Given the description of an element on the screen output the (x, y) to click on. 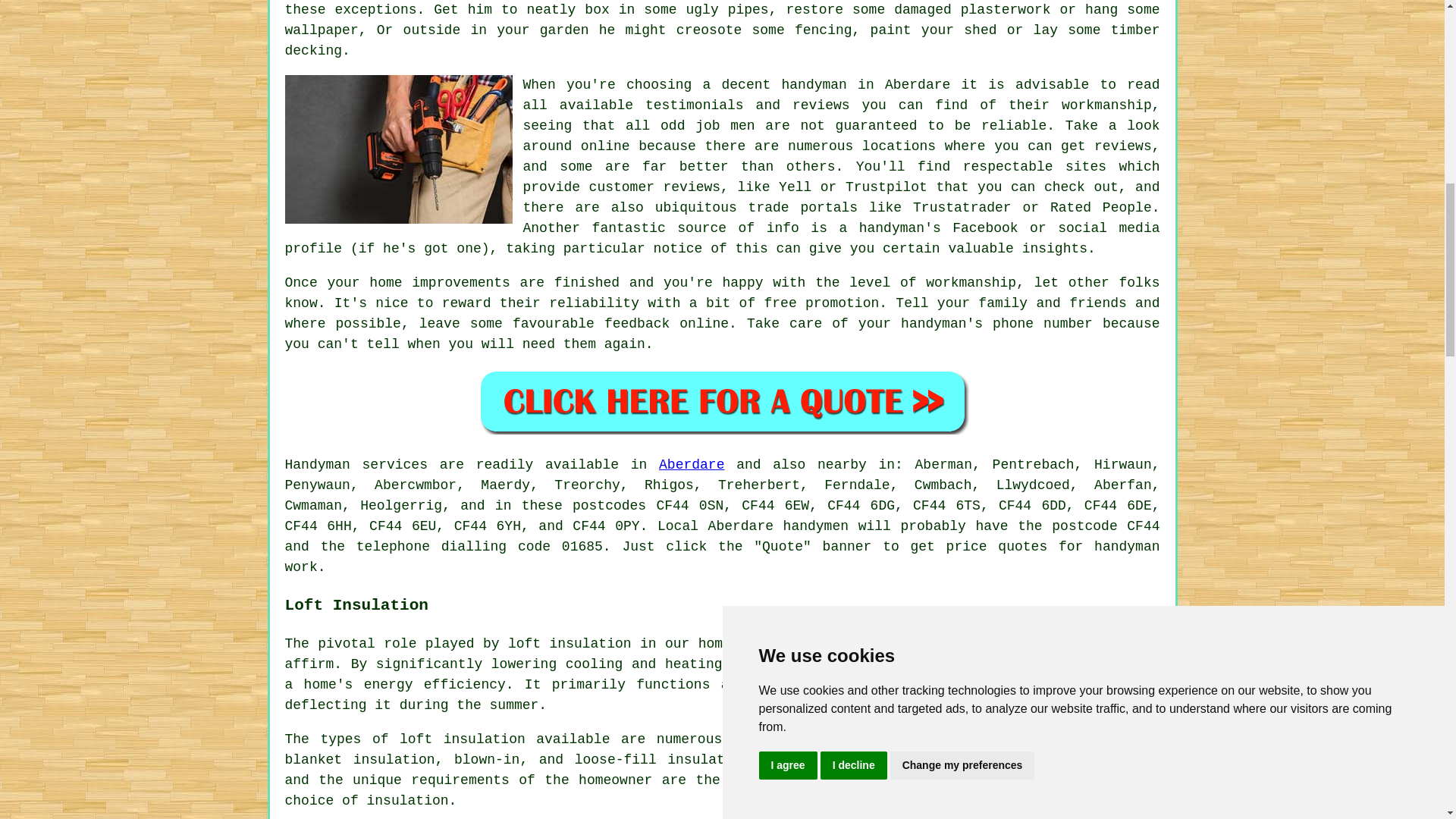
handymen (815, 525)
loft insulation (569, 643)
handyman (1126, 546)
Loft Insulation Aberdare (1046, 774)
Handyman services (356, 464)
handyman (812, 84)
